Given the description of an element on the screen output the (x, y) to click on. 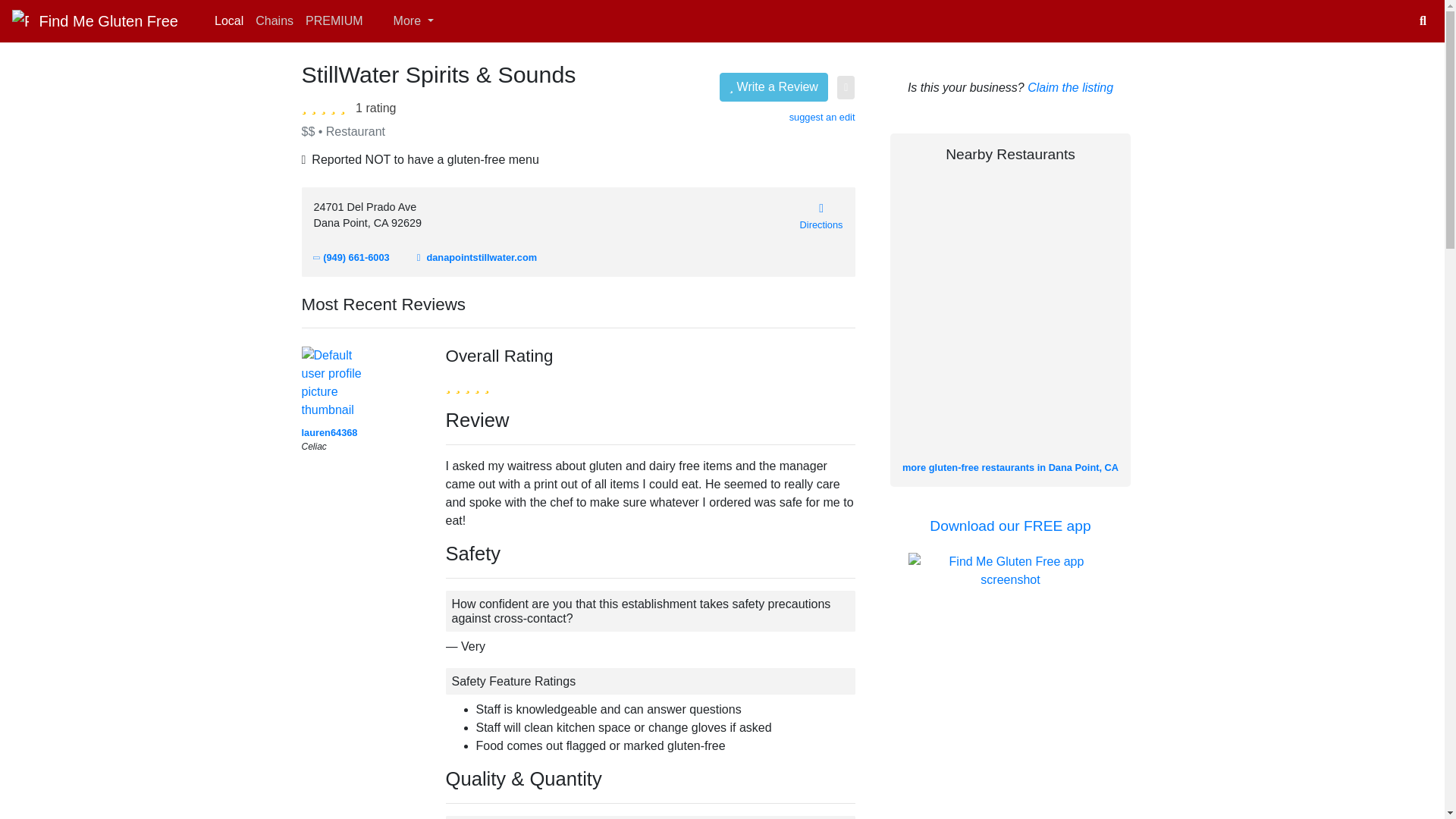
Download our FREE app (1010, 525)
Chains (273, 20)
5 star rating (467, 384)
More (404, 20)
suggest an edit (822, 116)
Local (228, 20)
Write a Review (773, 86)
danapointstillwater.com (476, 256)
more gluten-free restaurants in Dana Point, CA (1010, 467)
Find Me Gluten Free (94, 20)
